Given the description of an element on the screen output the (x, y) to click on. 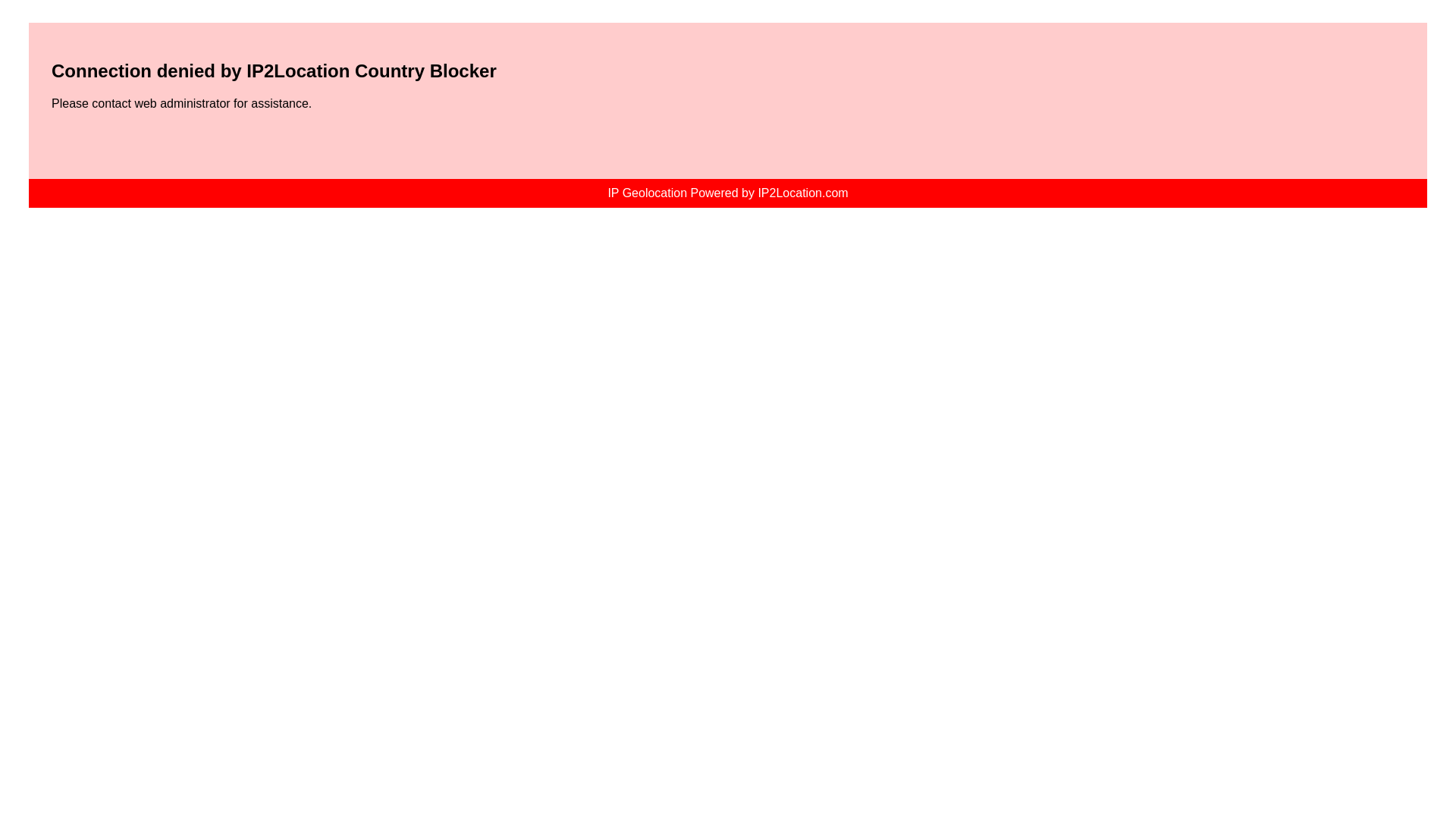
IP Geolocation Powered by IP2Location.com Element type: text (727, 192)
